Given the description of an element on the screen output the (x, y) to click on. 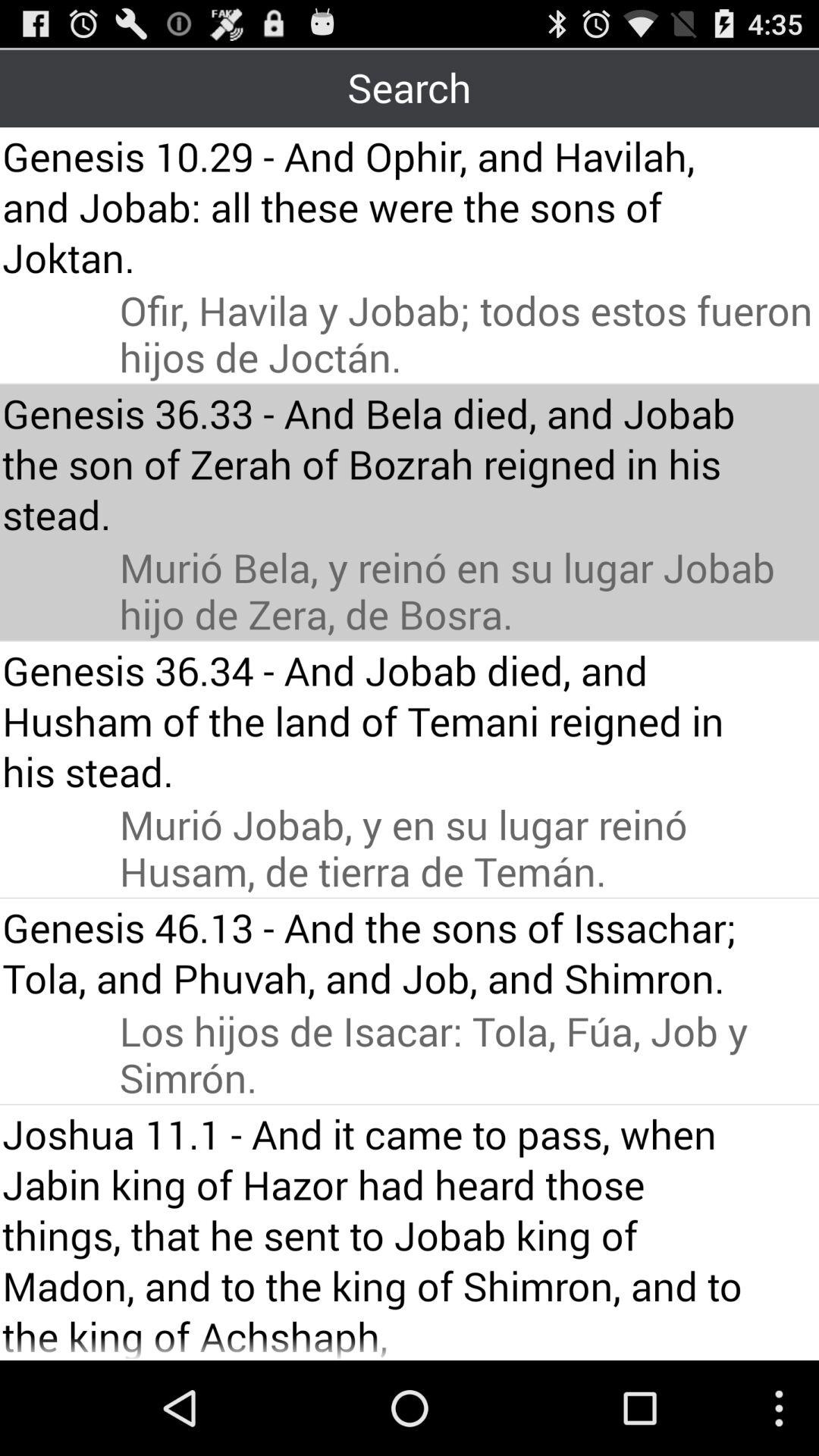
press joshua 11 1 item (380, 1233)
